Given the description of an element on the screen output the (x, y) to click on. 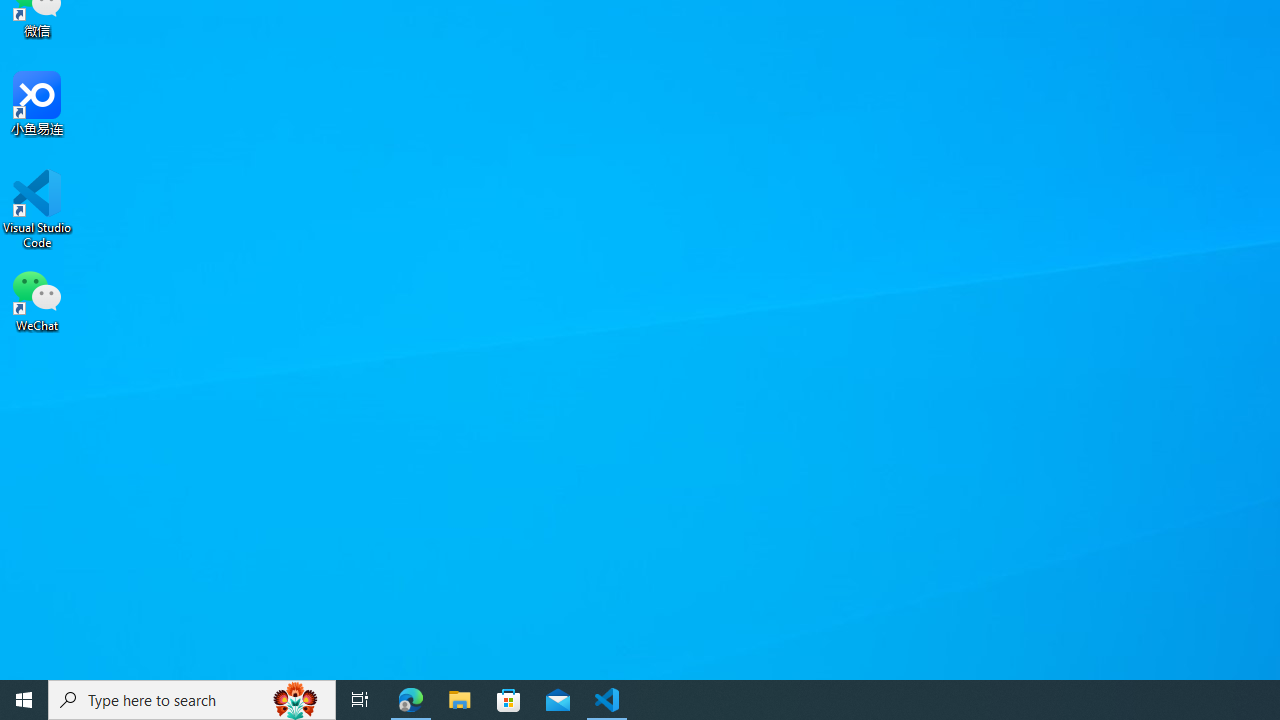
Visual Studio Code (37, 209)
Task View (359, 699)
Microsoft Store (509, 699)
WeChat (37, 299)
Type here to search (191, 699)
Search highlights icon opens search home window (295, 699)
Start (24, 699)
Microsoft Edge - 1 running window (411, 699)
File Explorer (460, 699)
Visual Studio Code - 1 running window (607, 699)
